Given the description of an element on the screen output the (x, y) to click on. 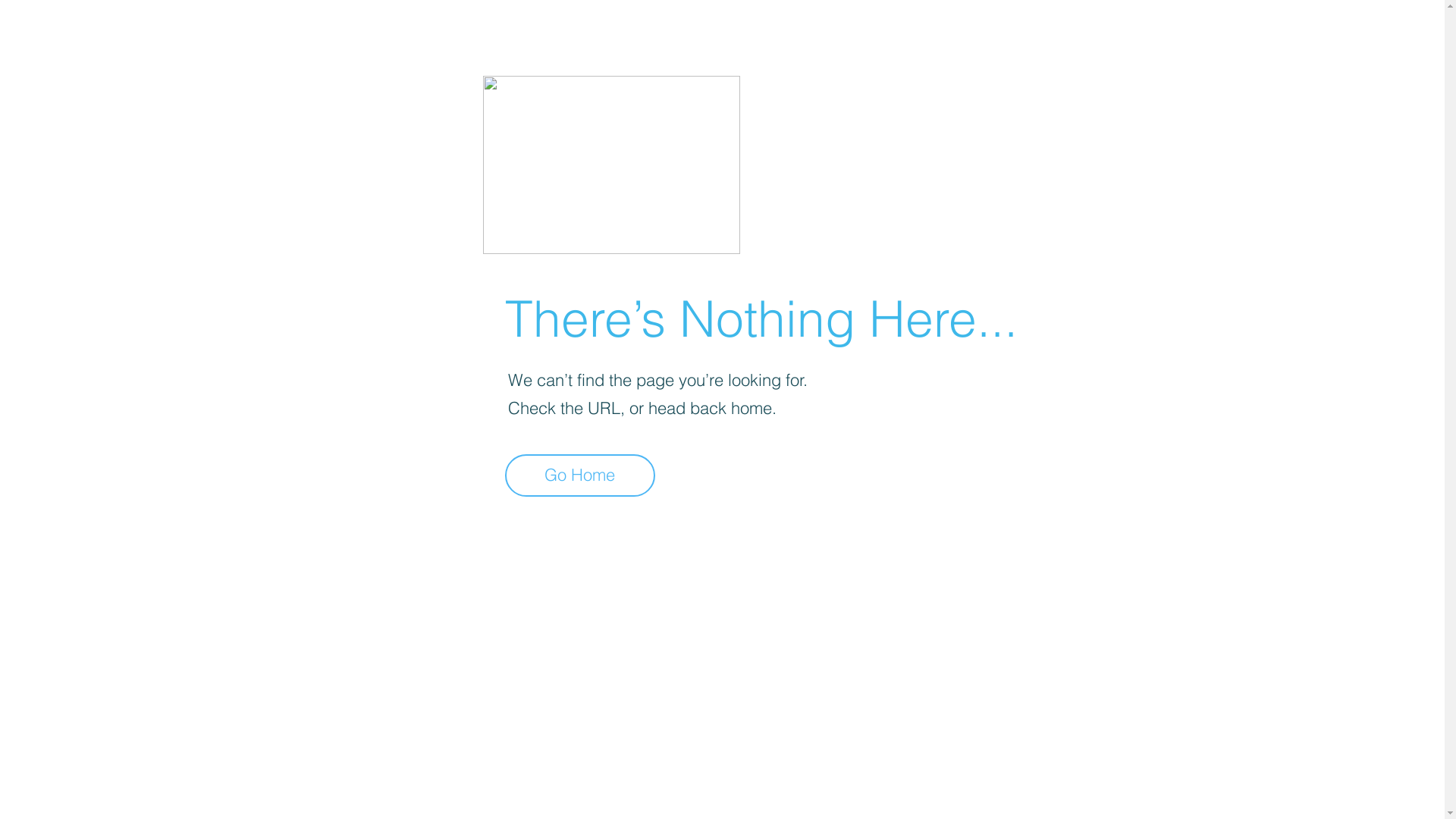
404-icon_2.png Element type: hover (610, 164)
Go Home Element type: text (580, 475)
